Given the description of an element on the screen output the (x, y) to click on. 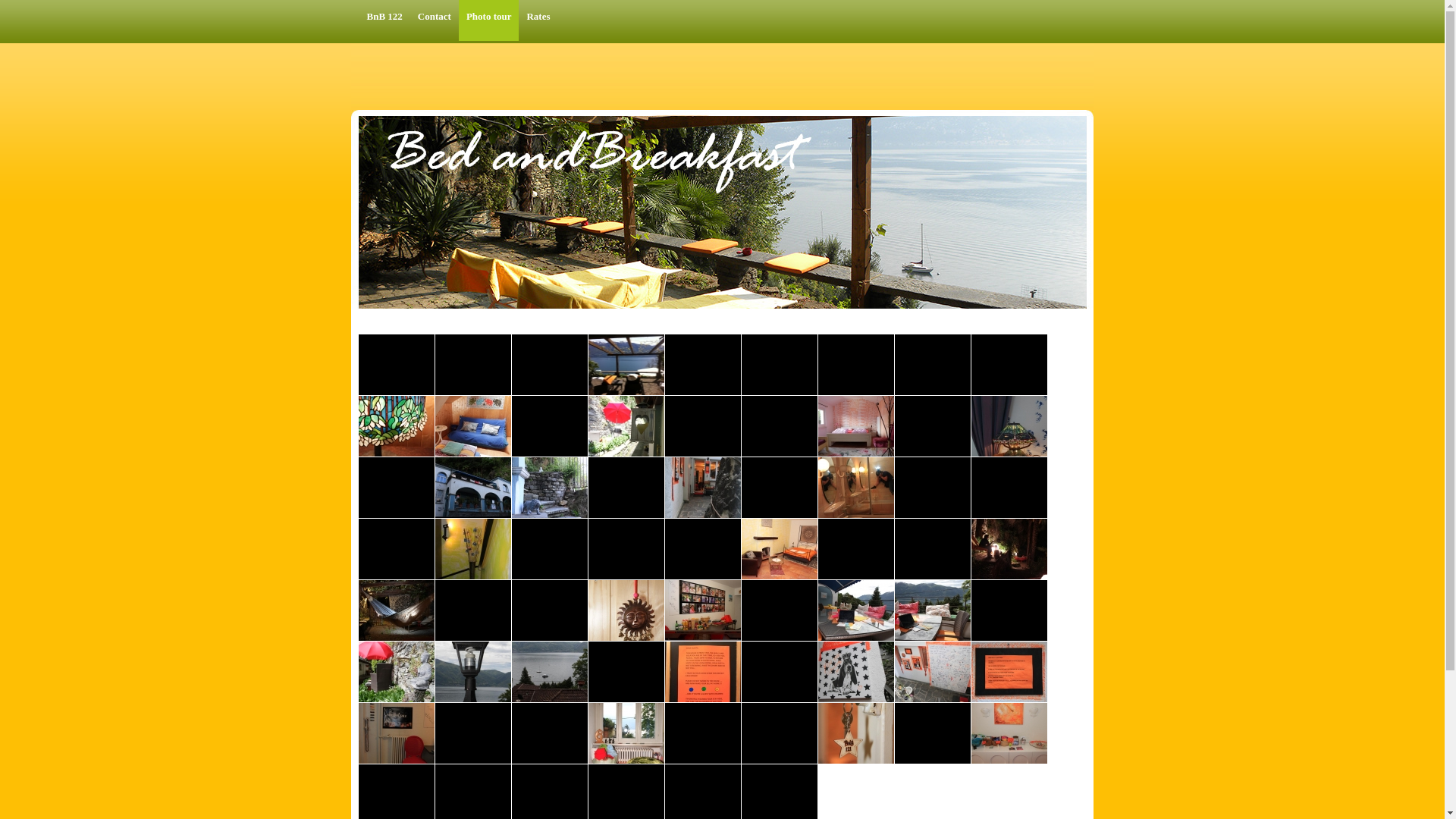
You are viewing the image with filename bnb122_2127.jpg Element type: hover (779, 732)
You are viewing the image with filename bnb122_1576.jpg Element type: hover (702, 487)
You are viewing the image with filename bnb122_2139.jpg Element type: hover (932, 732)
You are viewing the image with filename bnb122_2044.jpg Element type: hover (473, 732)
You are viewing the image with filename bnb122_1249.jpg Element type: hover (702, 425)
You are viewing the image with filename bnb122_090.jpg Element type: hover (626, 364)
You are viewing the image with filename bnb122_1984.jpg Element type: hover (473, 671)
You are viewing the image with filename bnb122_1910.jpg Element type: hover (702, 610)
You are viewing the image with filename bnb122_1190.jpg Element type: hover (473, 425)
You are viewing the image with filename bnb122_1911.jpg Element type: hover (779, 610)
You are viewing the image with filename bnb122_1267.jpg Element type: hover (779, 425)
You are viewing the image with filename bnb122_1998.jpg Element type: hover (626, 671)
Rates Element type: text (537, 20)
You are viewing the image with filename bnb122_1567.jpg Element type: hover (549, 487)
You are viewing the image with filename bnb122_1934.jpg Element type: hover (856, 610)
You are viewing the image with filename bnb122_2148.jpg Element type: hover (1009, 732)
You are viewing the image with filename bnb122_1864.jpg Element type: hover (1009, 548)
You are viewing the image with filename bnb122_2025.jpg Element type: hover (856, 671)
You are viewing the image with filename bnb122_1987.jpg Element type: hover (549, 671)
You are viewing the image with filename bnb122_1627.jpg Element type: hover (1009, 487)
You are viewing the image with filename bnb122_1708.jpg Element type: hover (779, 548)
You are viewing the image with filename bnb122_1127.jpg Element type: hover (702, 364)
You are viewing the image with filename bnb122_2033.jpg Element type: hover (1009, 671)
You are viewing the image with filename bnb122_1297.jpg Element type: hover (932, 425)
You are viewing the image with filename bnb122_2010.jpg Element type: hover (702, 671)
You are viewing the image with filename bnb122_2103.jpg Element type: hover (626, 732)
You are viewing the image with filename bnb122_2121.jpg Element type: hover (702, 732)
Contact Element type: text (434, 20)
You are viewing the image with filename bnb122_1661.jpg Element type: hover (626, 548)
You are viewing the image with filename bnb122_1276.jpg Element type: hover (856, 425)
You are viewing the image with filename bnb122_1946.jpg Element type: hover (932, 610)
You are viewing the image with filename bnb122_072.jpg Element type: hover (549, 364)
You are viewing the image with filename bnb122_1903.jpg Element type: hover (626, 610)
Photo tour Element type: text (488, 20)
You are viewing the image with filename bnb122_1229.jpg Element type: hover (626, 425)
You are viewing the image with filename bnb122_1636.jpg Element type: hover (473, 548)
You are viewing the image with filename bnb122_1573.jpg Element type: hover (626, 487)
You are viewing the image with filename bnb122_1880.jpg Element type: hover (396, 610)
You are viewing the image with filename bnb122_068.jpg Element type: hover (396, 364)
You are viewing the image with filename bnb122_2043.jpg Element type: hover (396, 732)
You are viewing the image with filename bnb122_1620.jpg Element type: hover (856, 487)
You are viewing the image with filename bnb122_1896.jpg Element type: hover (549, 610)
You are viewing the image with filename bnb122_2137.jpg Element type: hover (856, 732)
You are viewing the image with filename bnb122_1156.jpg Element type: hover (779, 364)
You are viewing the image with filename bnb122_1694.jpg Element type: hover (702, 548)
You are viewing the image with filename bnb122_1858.jpg Element type: hover (856, 548)
BnB 122 Element type: text (384, 20)
You are viewing the image with filename bnb122_1626.jpg Element type: hover (932, 487)
You are viewing the image with filename bnb122_2028.jpg Element type: hover (932, 671)
You are viewing the image with filename bnb122_1563.jpg Element type: hover (473, 487)
You are viewing the image with filename bnb122_1195.jpg Element type: hover (549, 425)
You are viewing the image with filename bnb122_1981.jpg Element type: hover (396, 671)
You are viewing the image with filename bnb122_1960.jpg Element type: hover (1009, 610)
You are viewing the image with filename bnb122_1186.jpg Element type: hover (396, 425)
You are viewing the image with filename bnb122_1561.jpg Element type: hover (396, 487)
You are viewing the image with filename bnb122_1174.jpg Element type: hover (1009, 364)
You are viewing the image with filename bnb122_1862.jpg Element type: hover (932, 548)
You are viewing the image with filename bnb122_2023.jpg Element type: hover (779, 671)
You are viewing the image with filename bnb122_1302.jpg Element type: hover (1009, 425)
You are viewing the image with filename bnb122_1158.jpg Element type: hover (856, 364)
You are viewing the image with filename bnb122_2066.jpg Element type: hover (549, 732)
You are viewing the image with filename bnb122_1164.jpg Element type: hover (932, 364)
You are viewing the image with filename bnb122_1599.jpg Element type: hover (779, 487)
You are viewing the image with filename bnb122_1633.jpg Element type: hover (396, 548)
You are viewing the image with filename bnb122_069.jpg Element type: hover (473, 364)
You are viewing the image with filename bnb122_1657.jpg Element type: hover (549, 548)
You are viewing the image with filename bnb122_1889.jpg Element type: hover (473, 610)
